Given the description of an element on the screen output the (x, y) to click on. 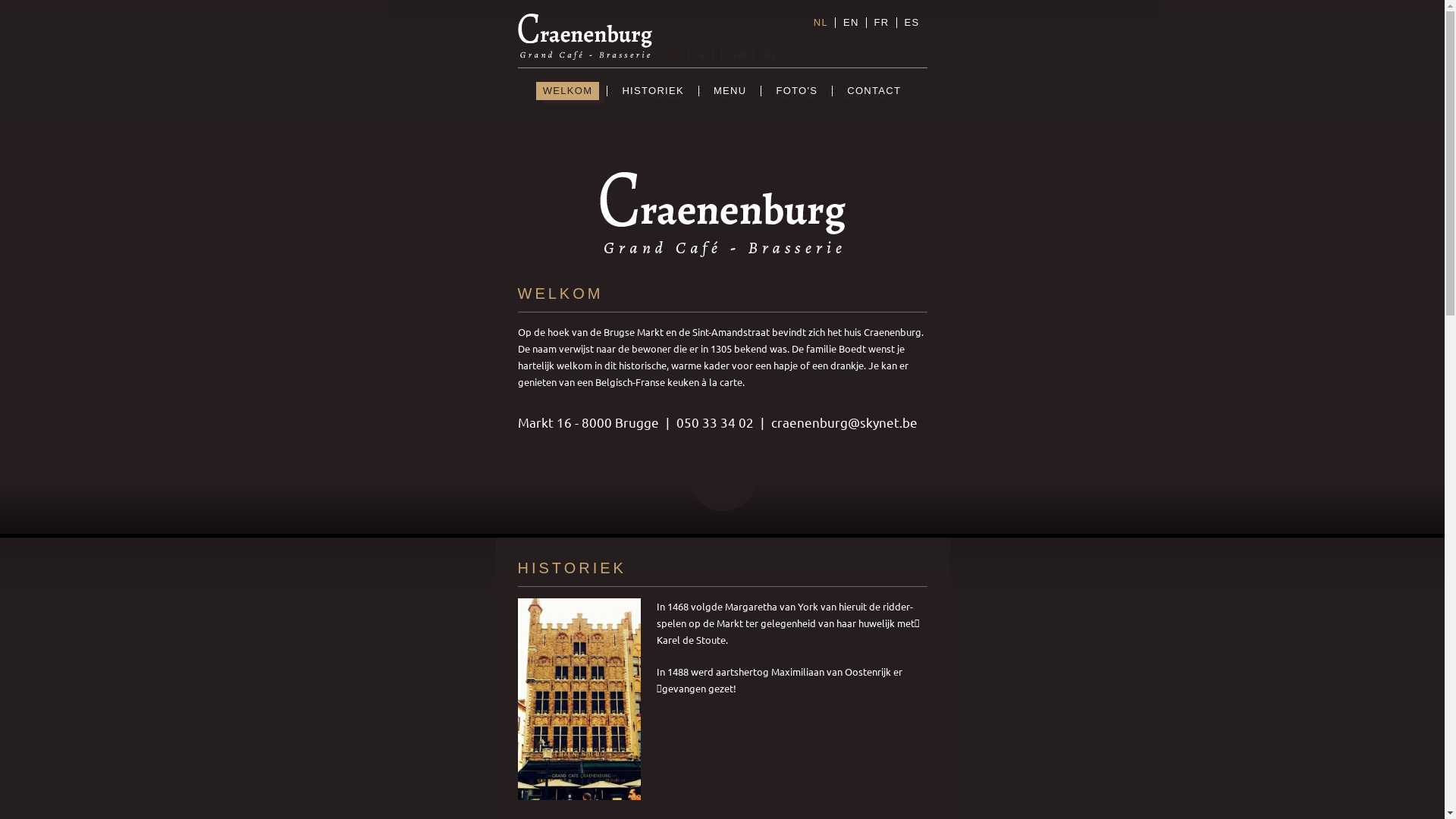
FOTO'S Element type: text (796, 90)
Huis Craenenburg Element type: hover (584, 36)
craenenburg@skynet.be Element type: text (843, 421)
EN Element type: text (707, 54)
HISTORIEK Element type: text (652, 90)
ES Element type: text (911, 22)
HISTORIEK Element type: text (655, 94)
ES Element type: text (770, 54)
NL Element type: text (674, 54)
WELKOM Element type: text (567, 90)
CONTACT Element type: text (868, 94)
NL Element type: text (820, 22)
MENU Element type: text (729, 94)
WELKOM Element type: text (573, 94)
FOTO'S Element type: text (794, 94)
FR Element type: text (881, 22)
CONTACT Element type: text (873, 90)
MENU Element type: text (729, 90)
FR Element type: text (738, 54)
EN Element type: text (850, 22)
050 33 34 02 Element type: text (714, 421)
